Given the description of an element on the screen output the (x, y) to click on. 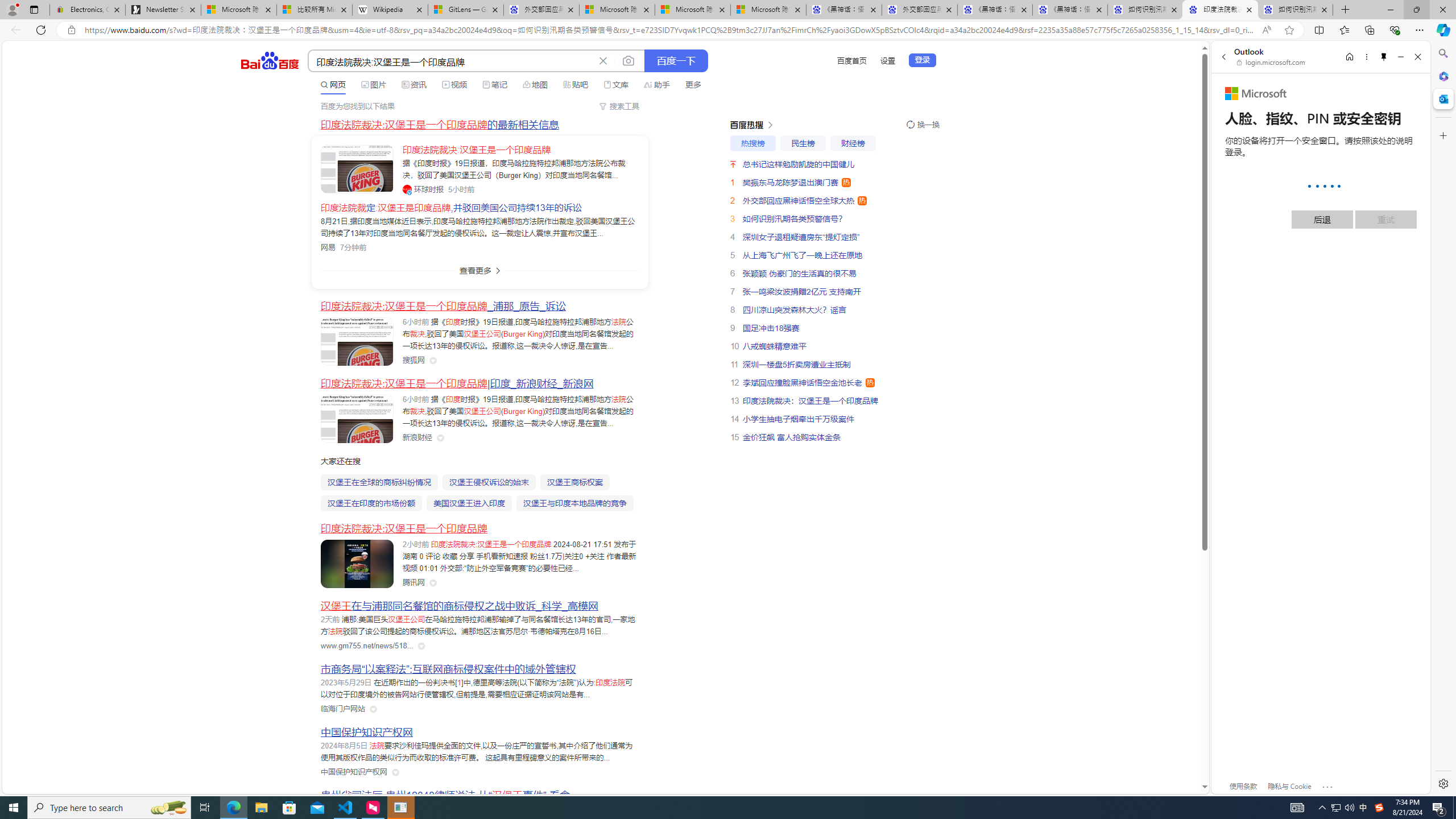
Class: c-img c-img-radius-large (356, 168)
Electronics, Cars, Fashion, Collectibles & More | eBay (87, 9)
